Given the description of an element on the screen output the (x, y) to click on. 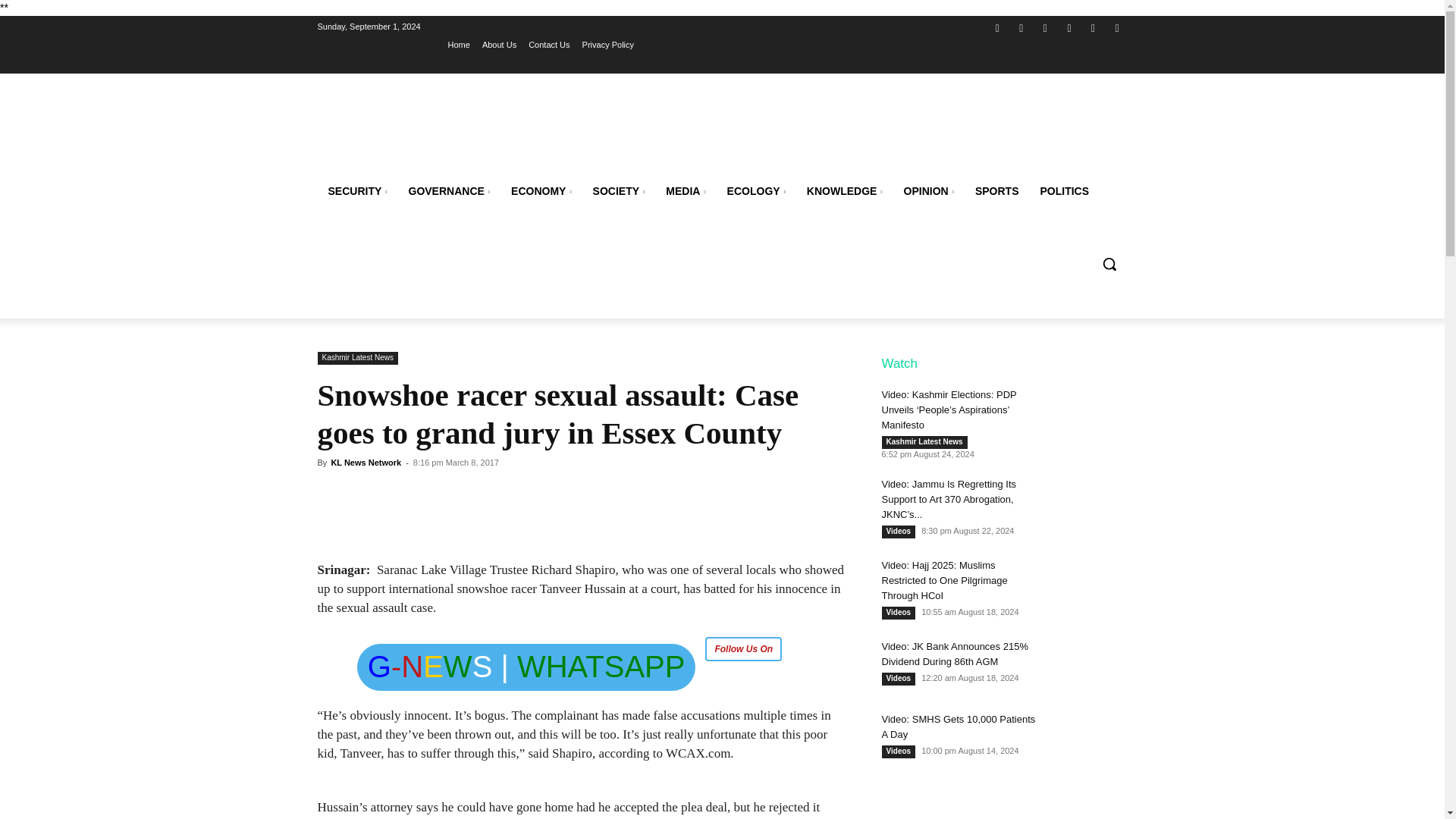
Youtube (1116, 28)
Website (1069, 28)
Instagram (1021, 28)
Facebook (997, 28)
WhatsApp (1093, 28)
Twitter (1045, 28)
